Given the description of an element on the screen output the (x, y) to click on. 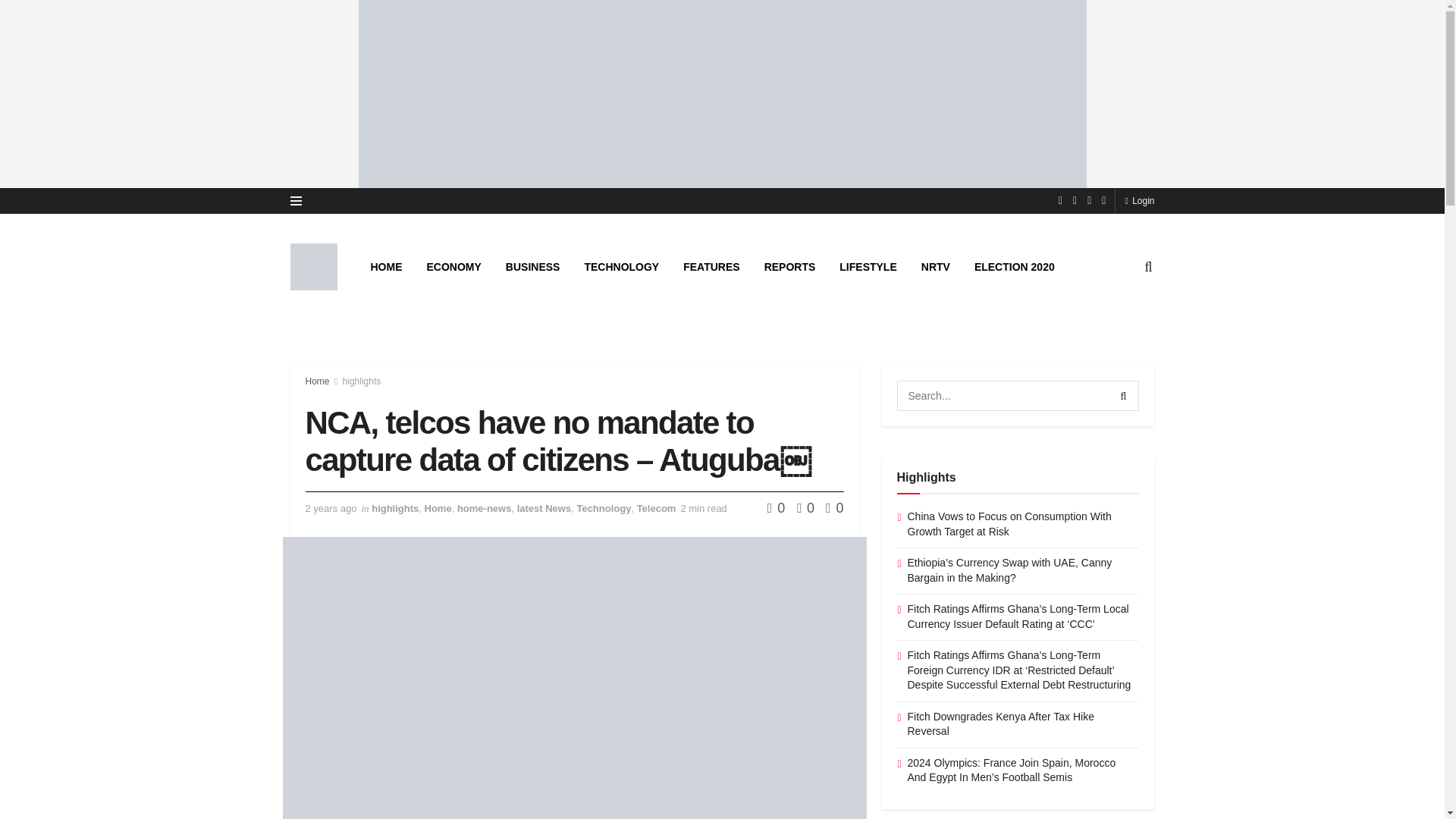
BUSINESS (532, 266)
FEATURES (711, 266)
Login (1139, 200)
HOME (385, 266)
ECONOMY (453, 266)
TECHNOLOGY (621, 266)
REPORTS (790, 266)
